Given the description of an element on the screen output the (x, y) to click on. 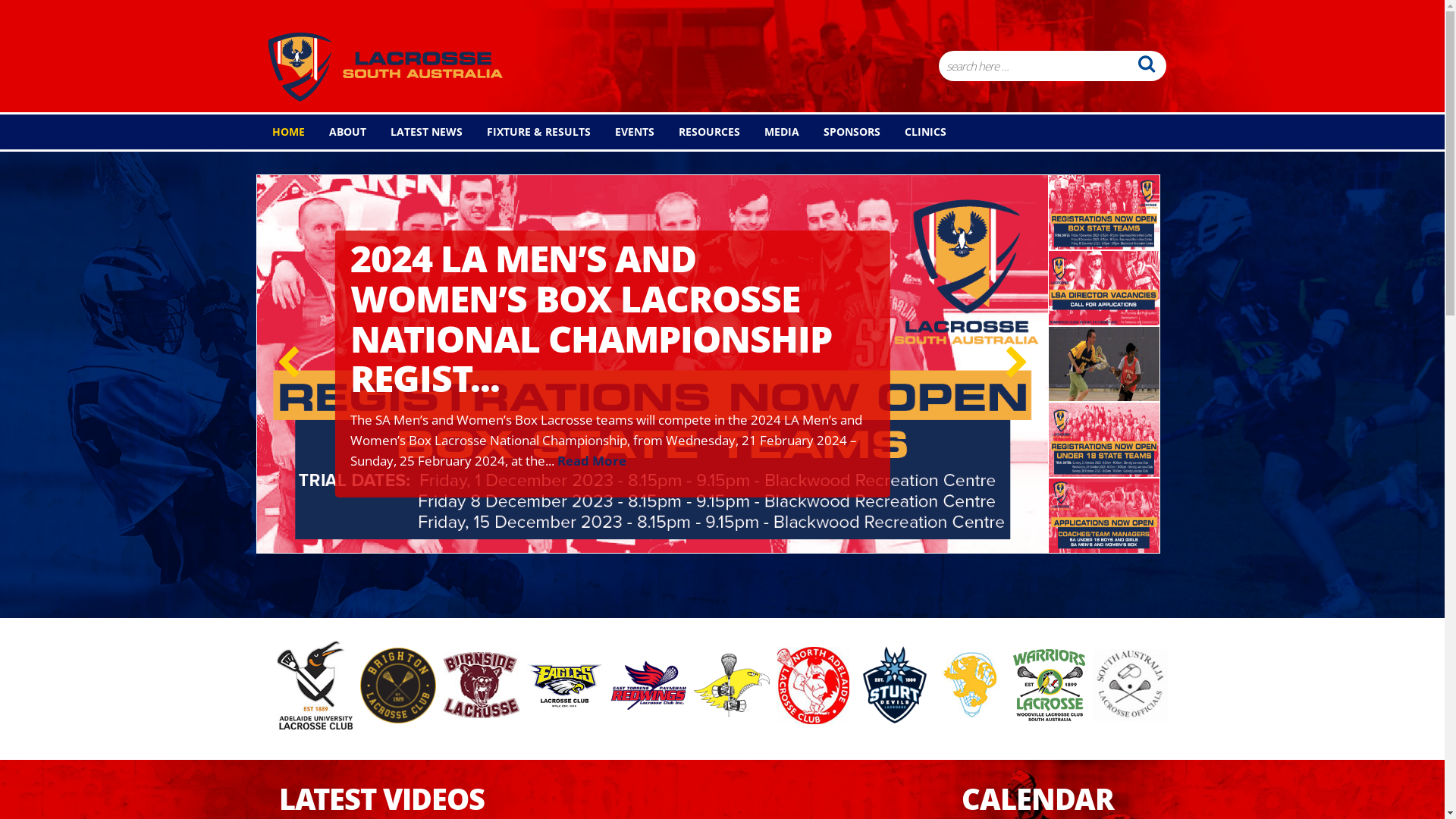
RESOURCES Element type: text (705, 131)
Next Element type: text (1016, 364)
HOME Element type: text (284, 131)
SPONSORS Element type: text (847, 131)
CLINICS Element type: text (921, 131)
Read More Element type: text (591, 460)
search Element type: text (1146, 63)
EVENTS Element type: text (630, 131)
MEDIA Element type: text (776, 131)
ABOUT Element type: text (342, 131)
LATEST NEWS Element type: text (422, 131)
Previous Element type: text (287, 364)
FIXTURE & RESULTS Element type: text (534, 131)
